Given the description of an element on the screen output the (x, y) to click on. 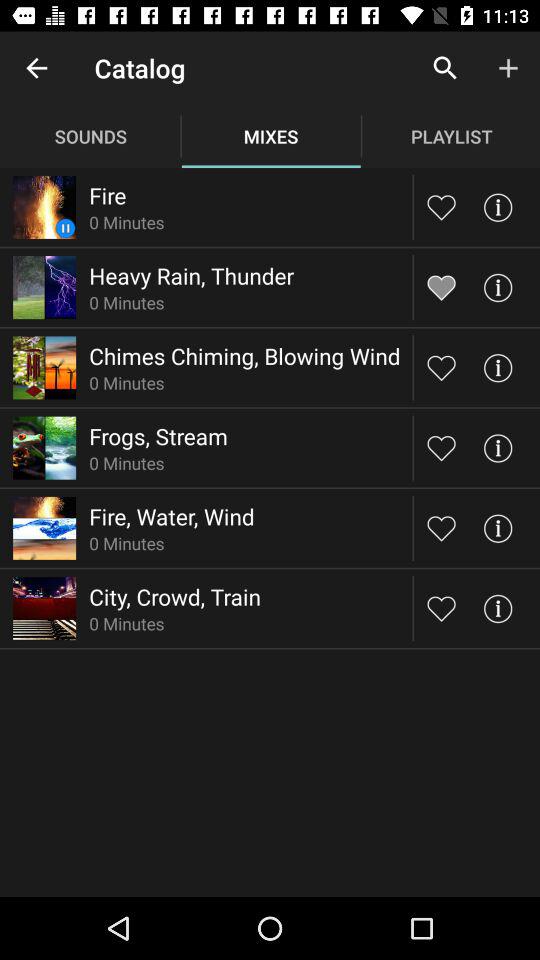
favorite song (441, 608)
